Given the description of an element on the screen output the (x, y) to click on. 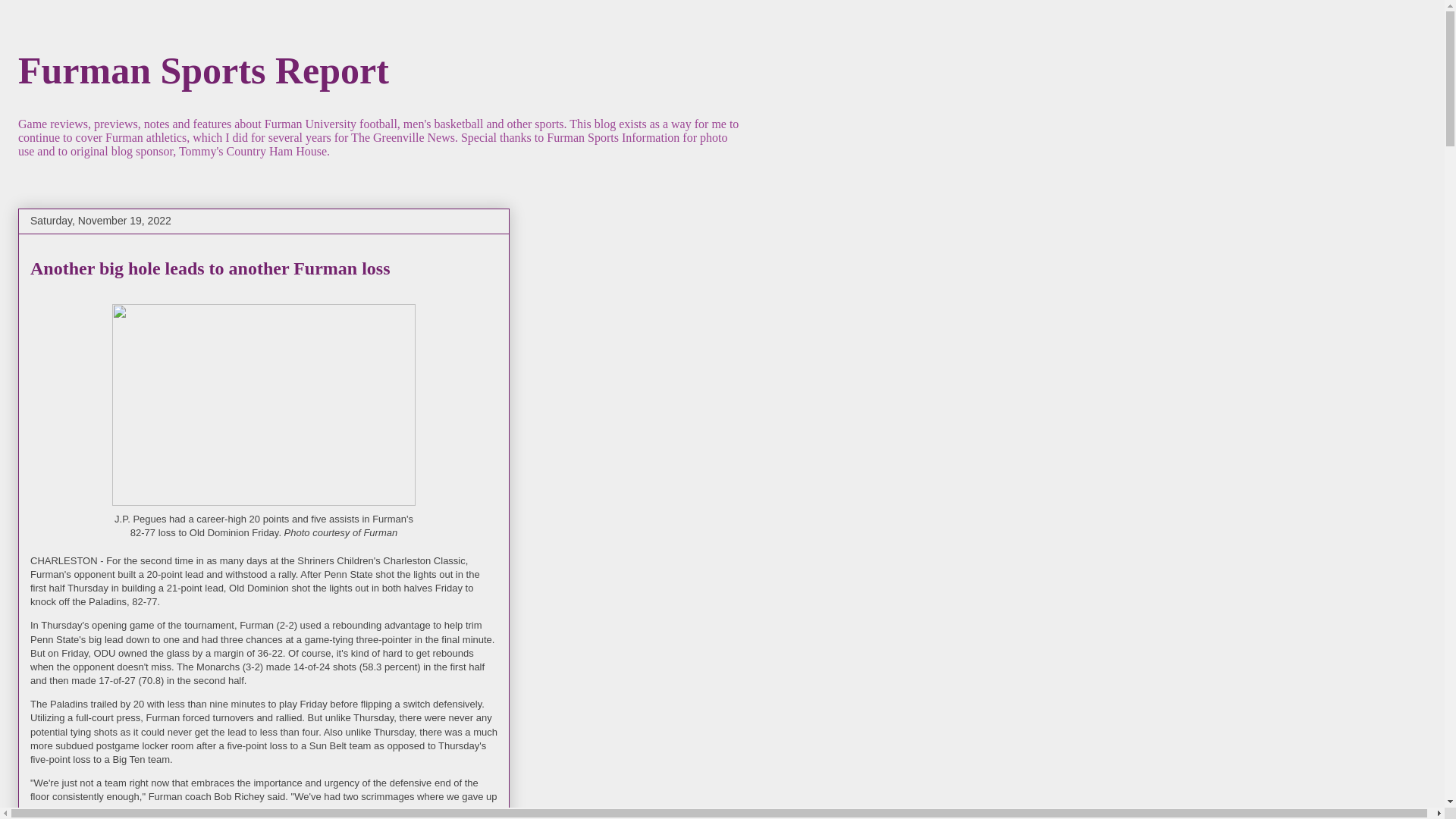
Furman Sports Report (202, 69)
